Given the description of an element on the screen output the (x, y) to click on. 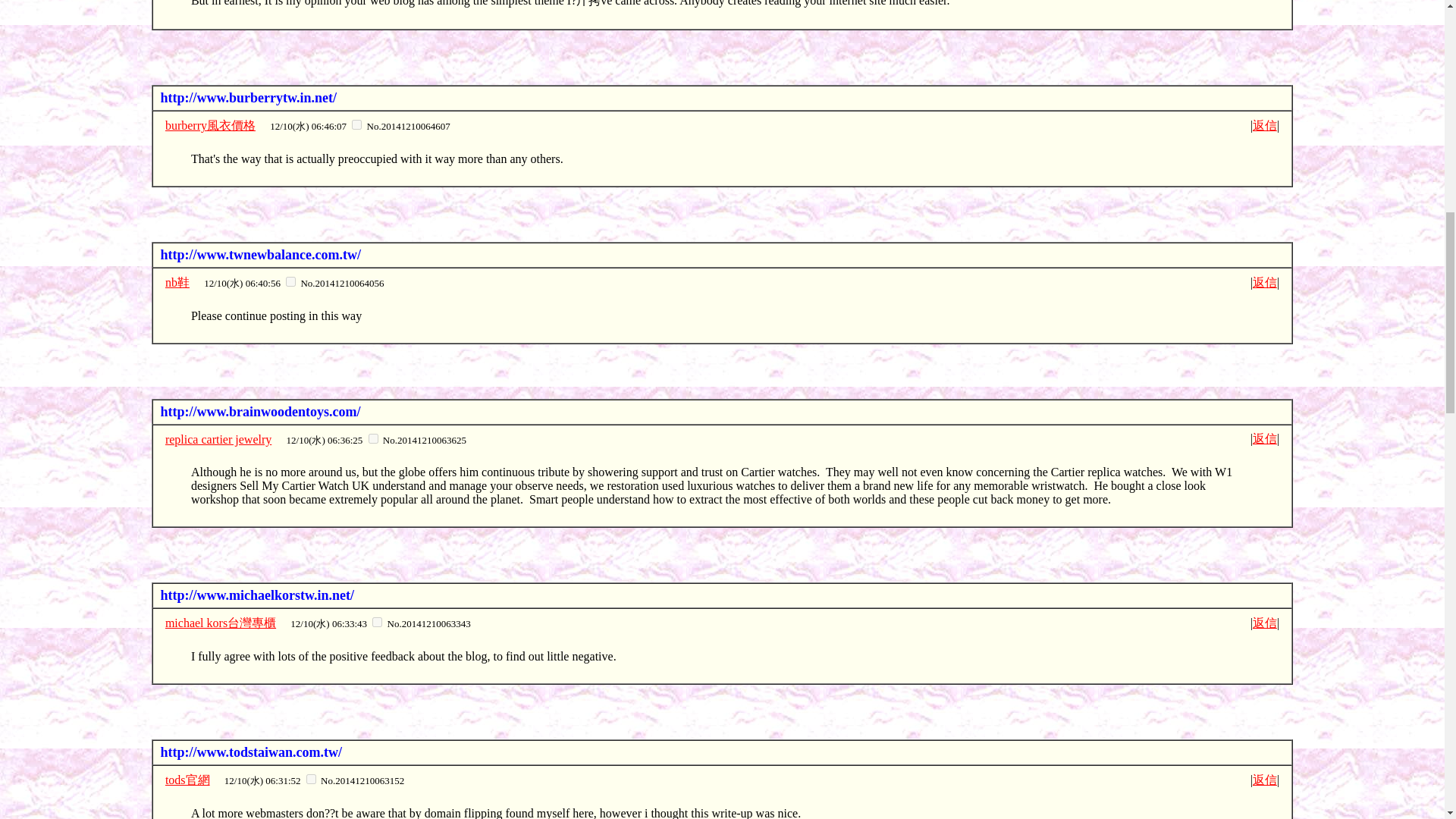
20141210063343 (376, 622)
replica cartier jewelry (217, 439)
20141210064607 (356, 124)
20141210063625 (373, 438)
20141210064056 (290, 281)
20141210063152 (310, 778)
